Given the description of an element on the screen output the (x, y) to click on. 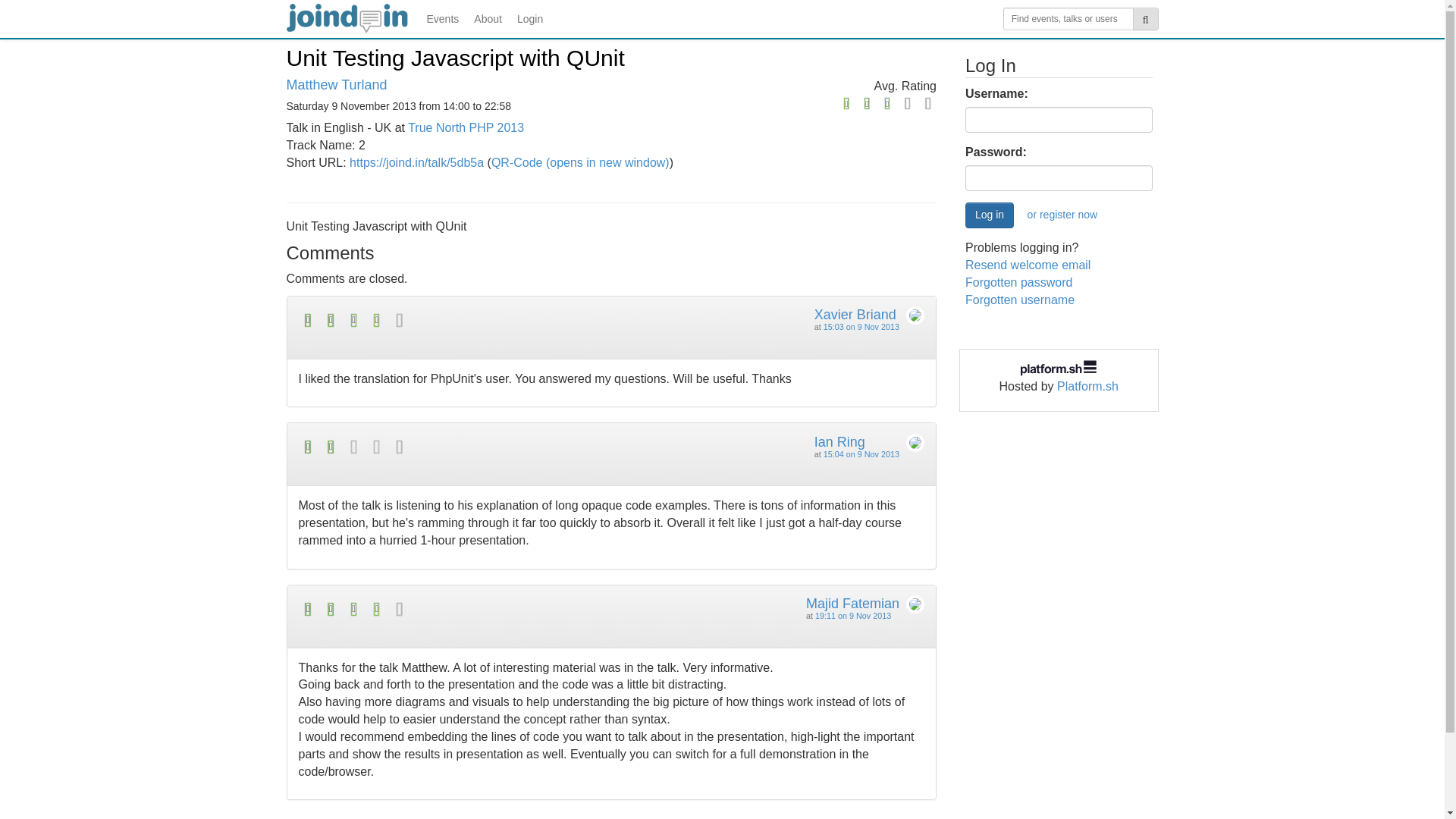
About (487, 18)
Rated 4 (454, 609)
Resend welcome email (1027, 264)
15:04 on 9 Nov 2013 (861, 453)
Matthew Turland (336, 84)
Forgotten username (1019, 299)
Xavier Briand (854, 314)
Rated 4 (454, 320)
Ian Ring (838, 441)
Rated 2 (454, 446)
